Given the description of an element on the screen output the (x, y) to click on. 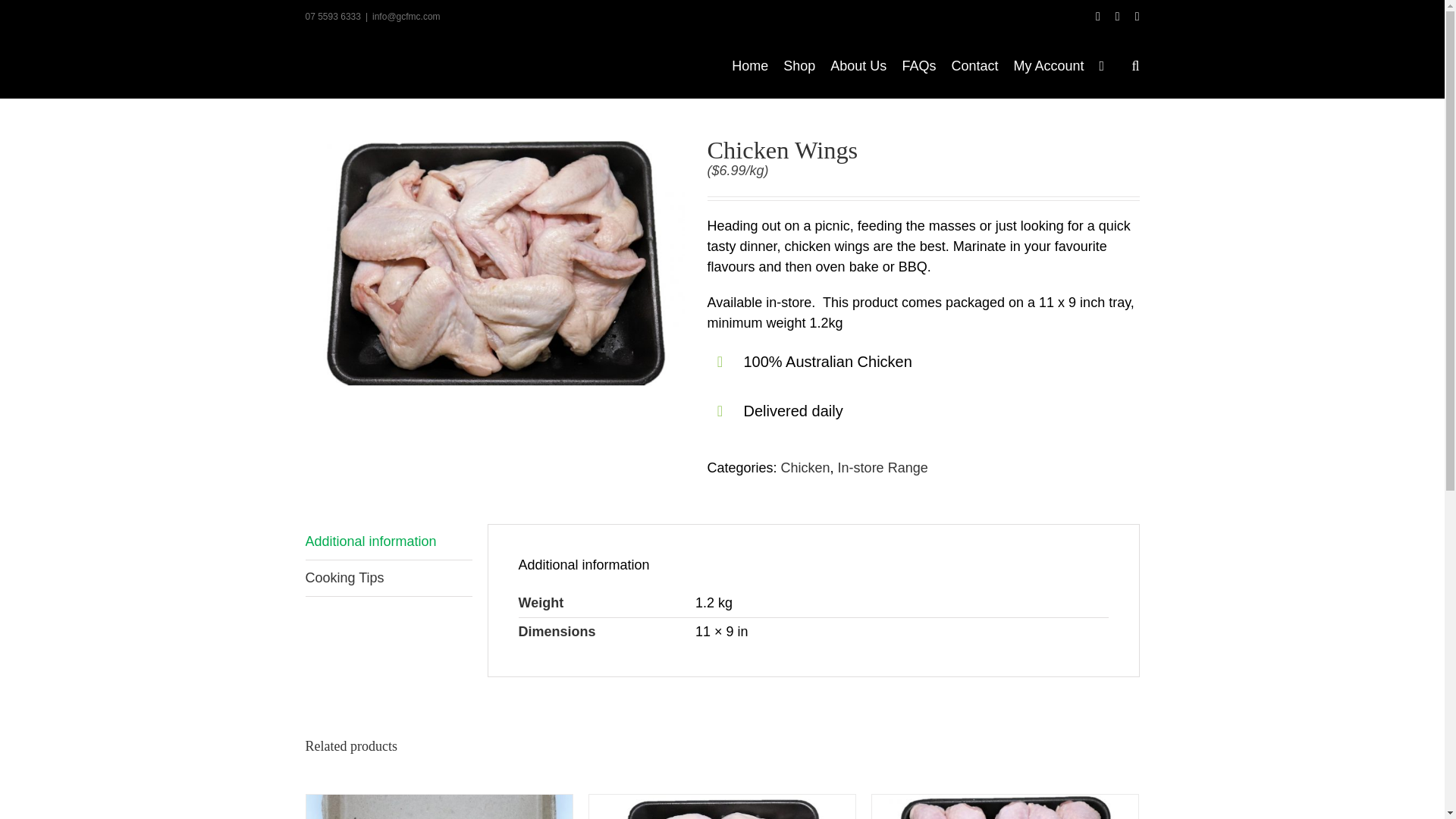
chicken-wings (494, 263)
Log In (1106, 210)
My Account (1048, 65)
